Given the description of an element on the screen output the (x, y) to click on. 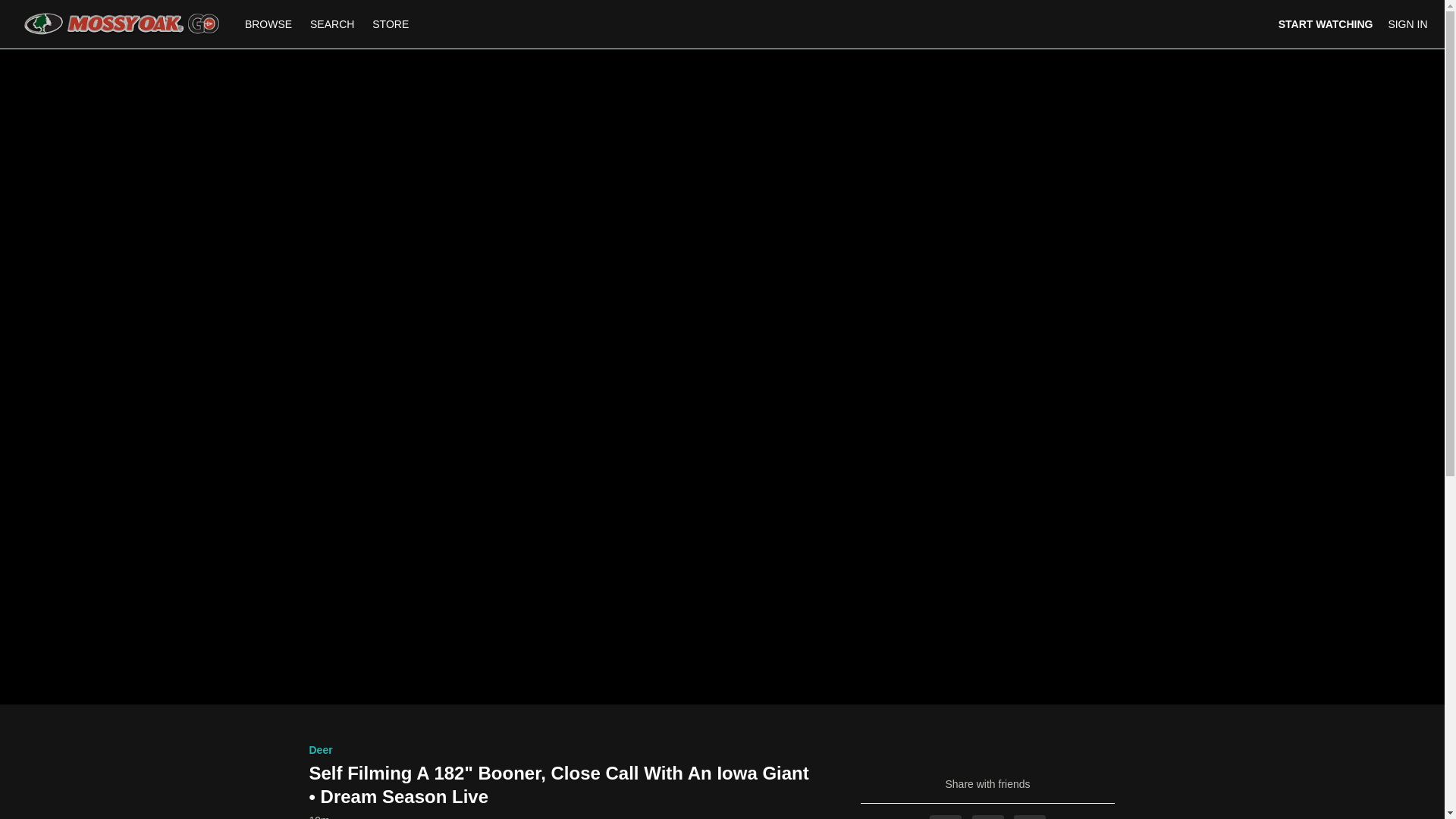
Email (1029, 816)
Deer (320, 749)
Twitter (988, 816)
Skip to main content (48, 7)
BROWSE (269, 24)
Facebook (945, 816)
SIGN IN (1406, 24)
START WATCHING (1325, 24)
STORE (390, 24)
SEARCH (333, 24)
